Given the description of an element on the screen output the (x, y) to click on. 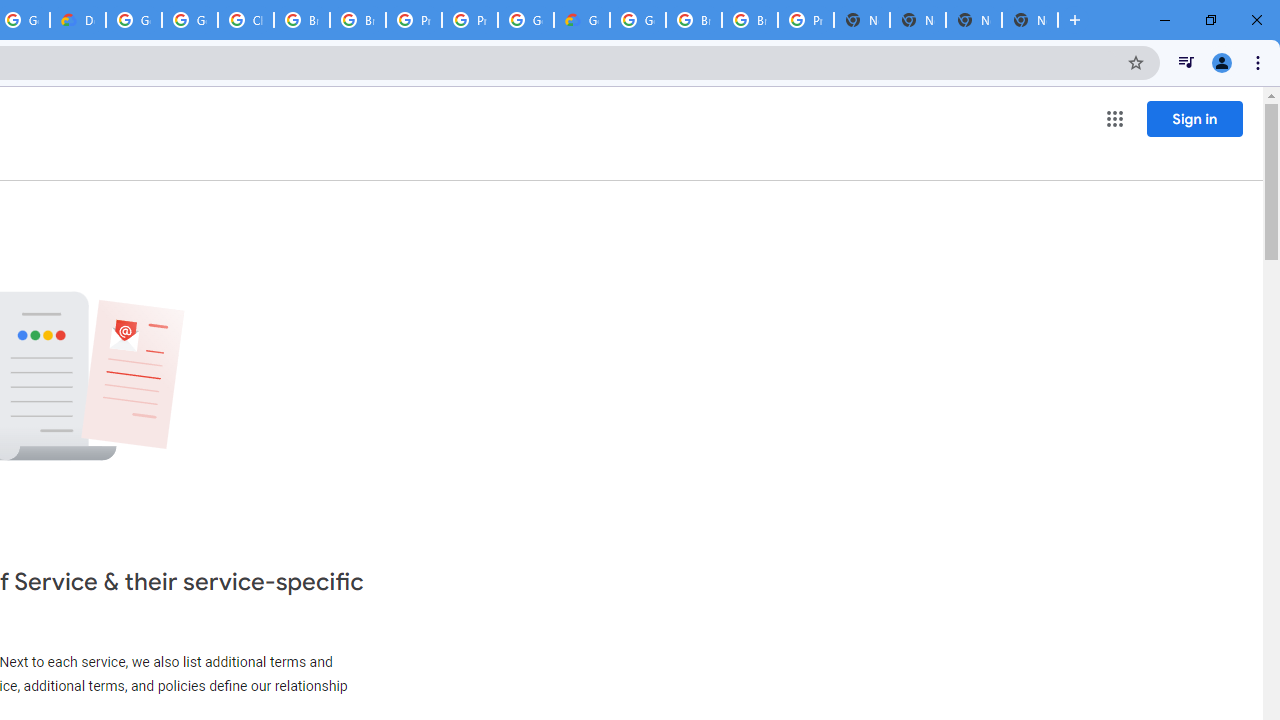
Google Cloud Platform (134, 20)
Google Cloud Estimate Summary (582, 20)
Google Cloud Platform (637, 20)
Google Cloud Platform (525, 20)
